Given the description of an element on the screen output the (x, y) to click on. 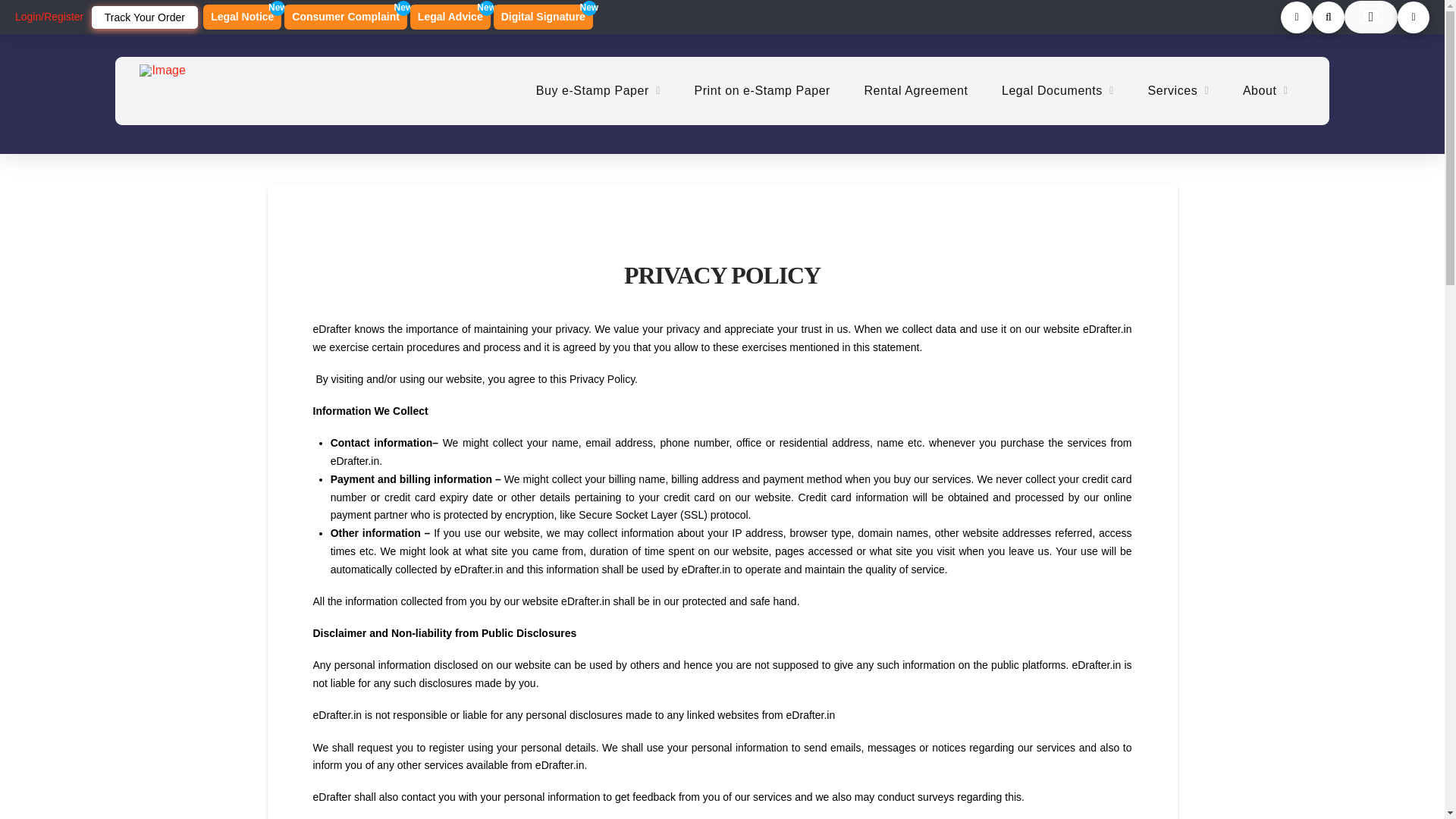
Track Your Order (450, 17)
Rental Agreement (345, 17)
Legal Documents (242, 17)
Print on e-Stamp Paper (144, 16)
Buy e-Stamp Paper (916, 90)
